Given the description of an element on the screen output the (x, y) to click on. 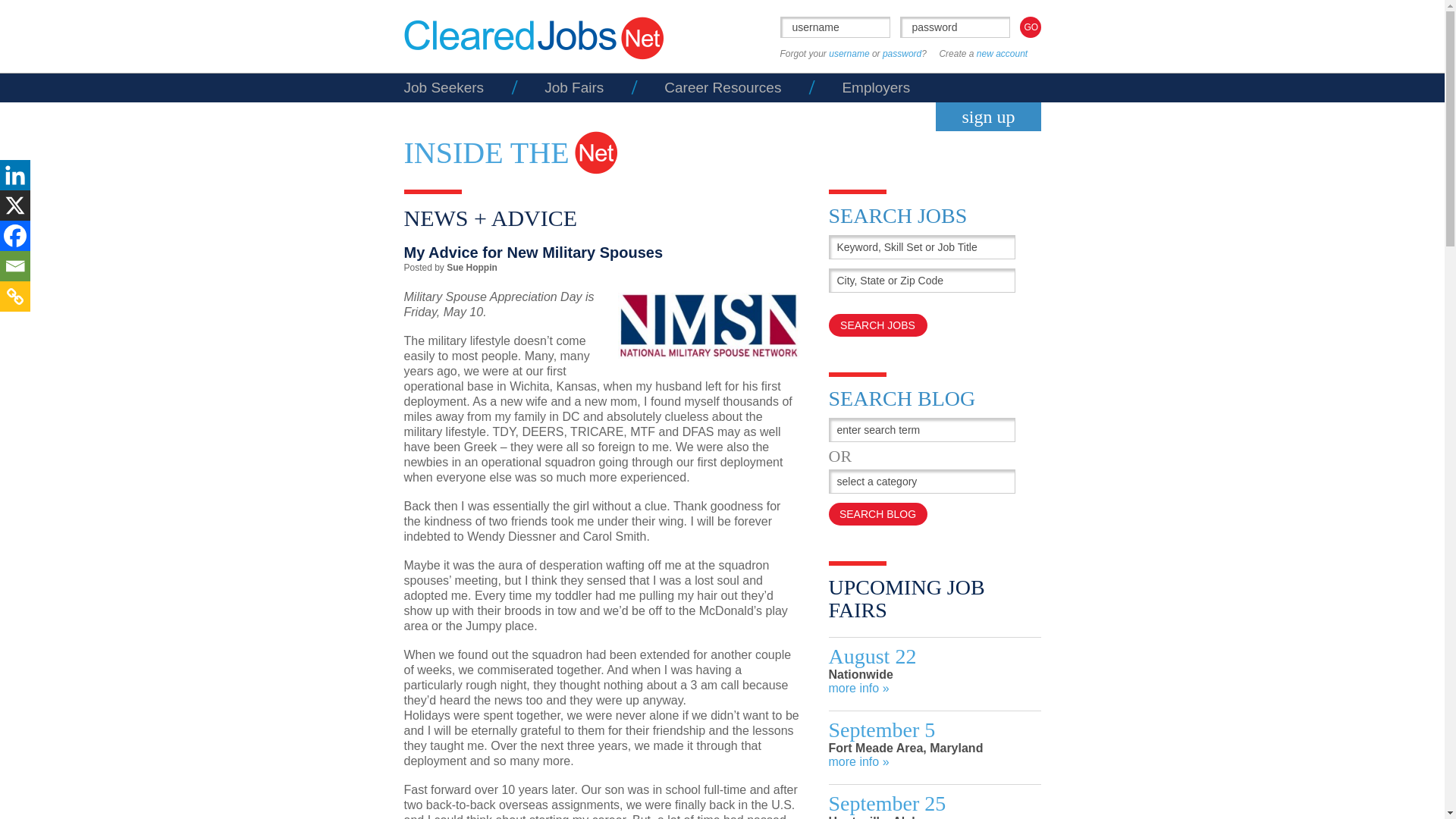
password (954, 26)
Linkedin (15, 174)
Facebook (15, 235)
new account (1001, 53)
Copy Link (15, 296)
Career Resources (721, 87)
Search Blog (877, 513)
Job Seekers (443, 87)
username (833, 26)
Search JOBS (877, 324)
Email (15, 265)
Job Fairs (574, 87)
sign up (988, 116)
Keyword, Skill Set or Job Title (921, 247)
select a category (911, 481)
